Given the description of an element on the screen output the (x, y) to click on. 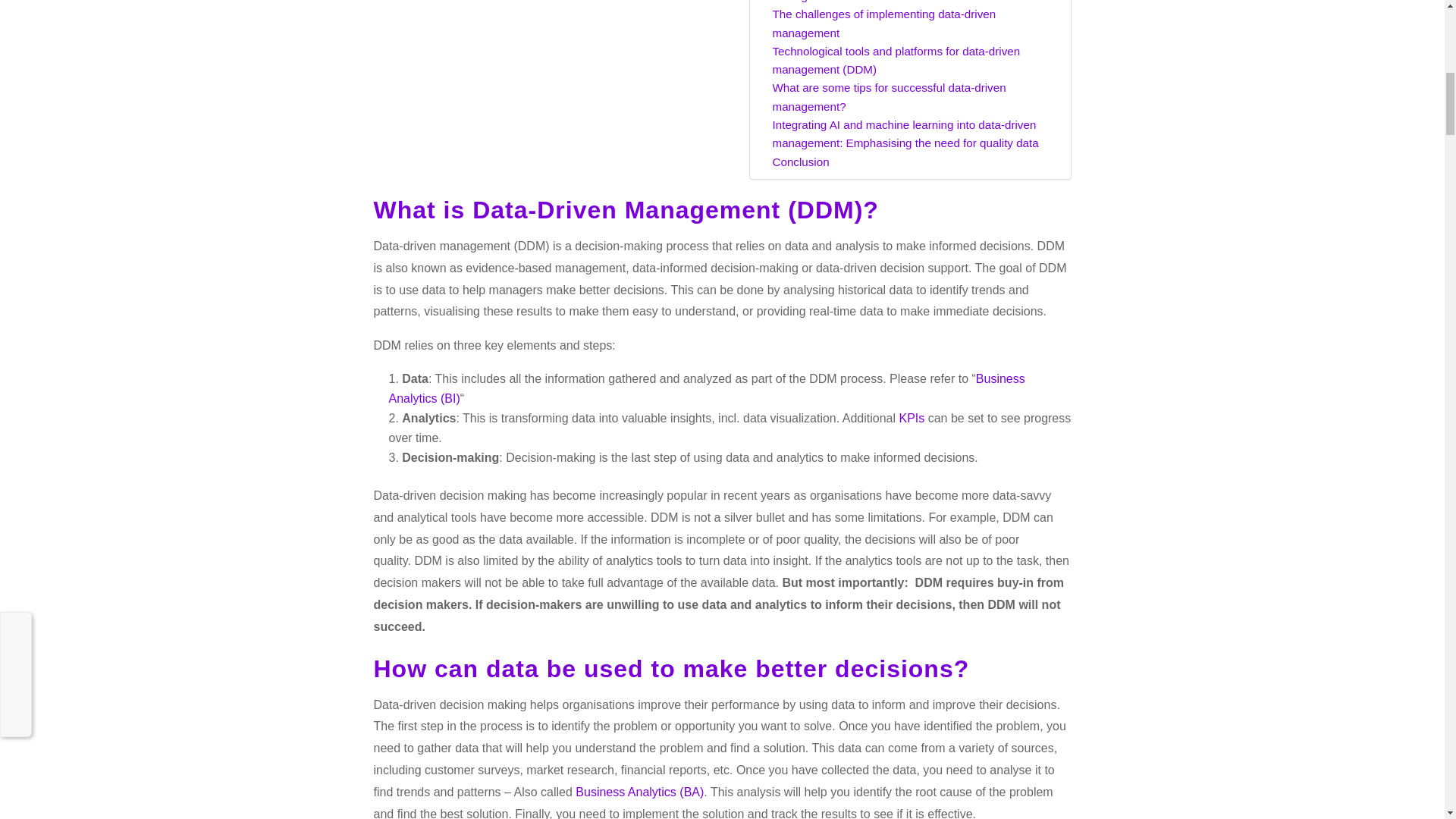
What are some tips for successful data-driven management? (912, 97)
Conclusion (799, 162)
How can you get started with Data-Driven Management? (912, 2)
The challenges of implementing data-driven management (912, 23)
